Given the description of an element on the screen output the (x, y) to click on. 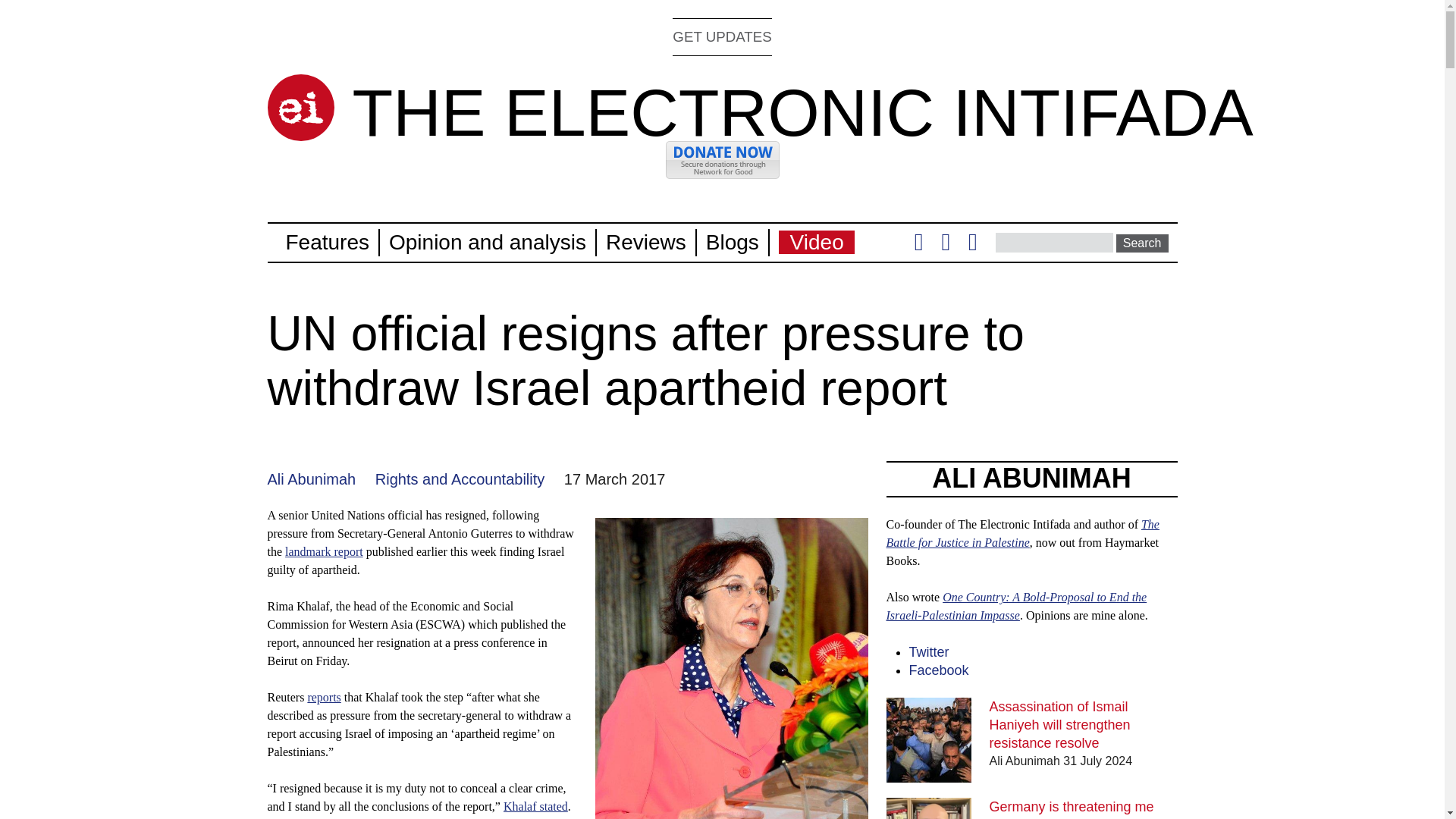
Ali Abunimah (310, 478)
reports (323, 697)
Home (802, 112)
GET UPDATES (721, 37)
landmark report (323, 551)
Khalaf stated (535, 806)
THE ELECTRONIC INTIFADA (802, 112)
Home (299, 107)
Enter the terms you wish to search for. (1054, 242)
Search (1142, 243)
